Given the description of an element on the screen output the (x, y) to click on. 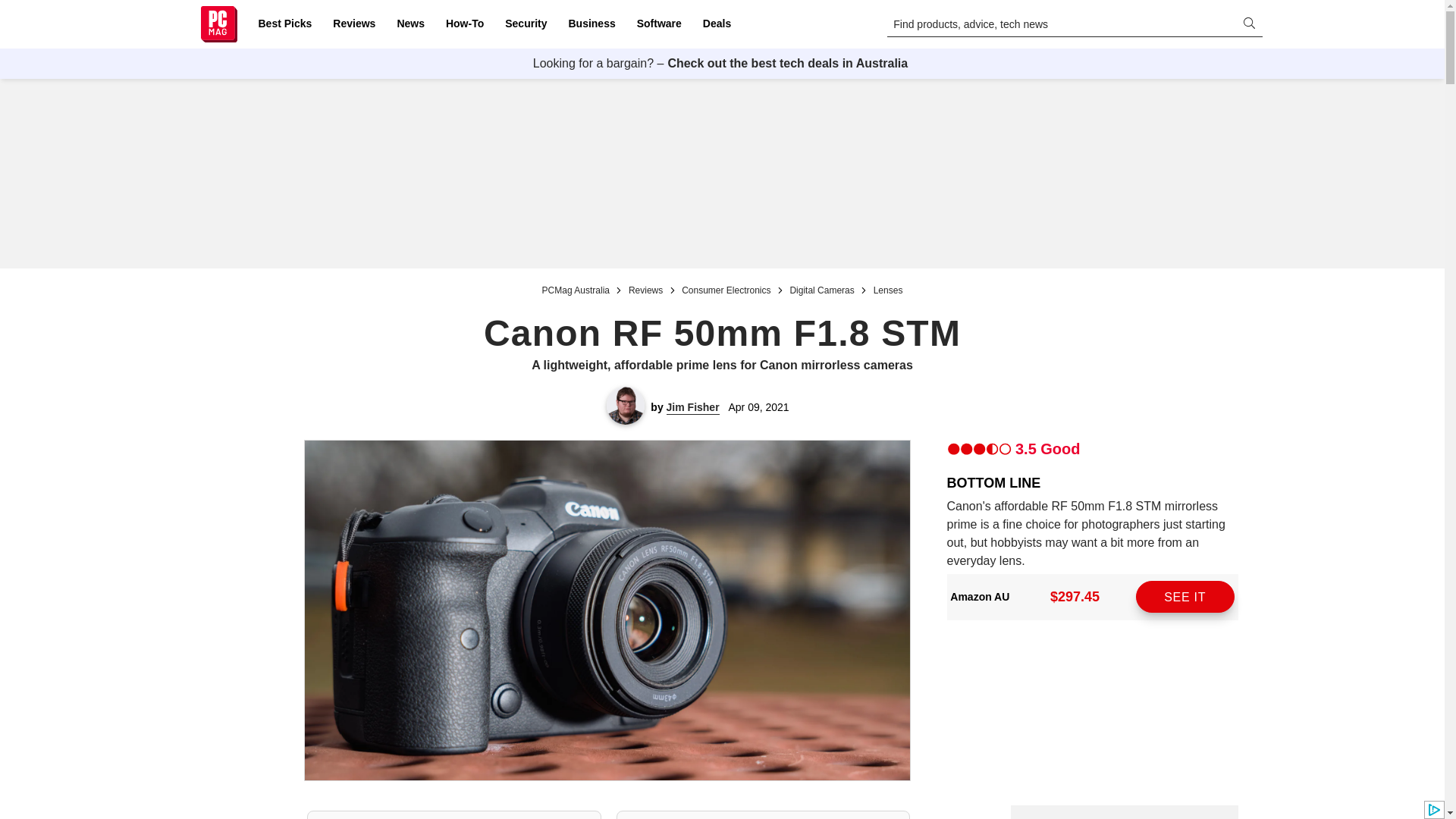
Security (526, 24)
Business (591, 24)
How-To (464, 24)
Reviews (353, 24)
Best Picks (284, 24)
News (410, 24)
